Given the description of an element on the screen output the (x, y) to click on. 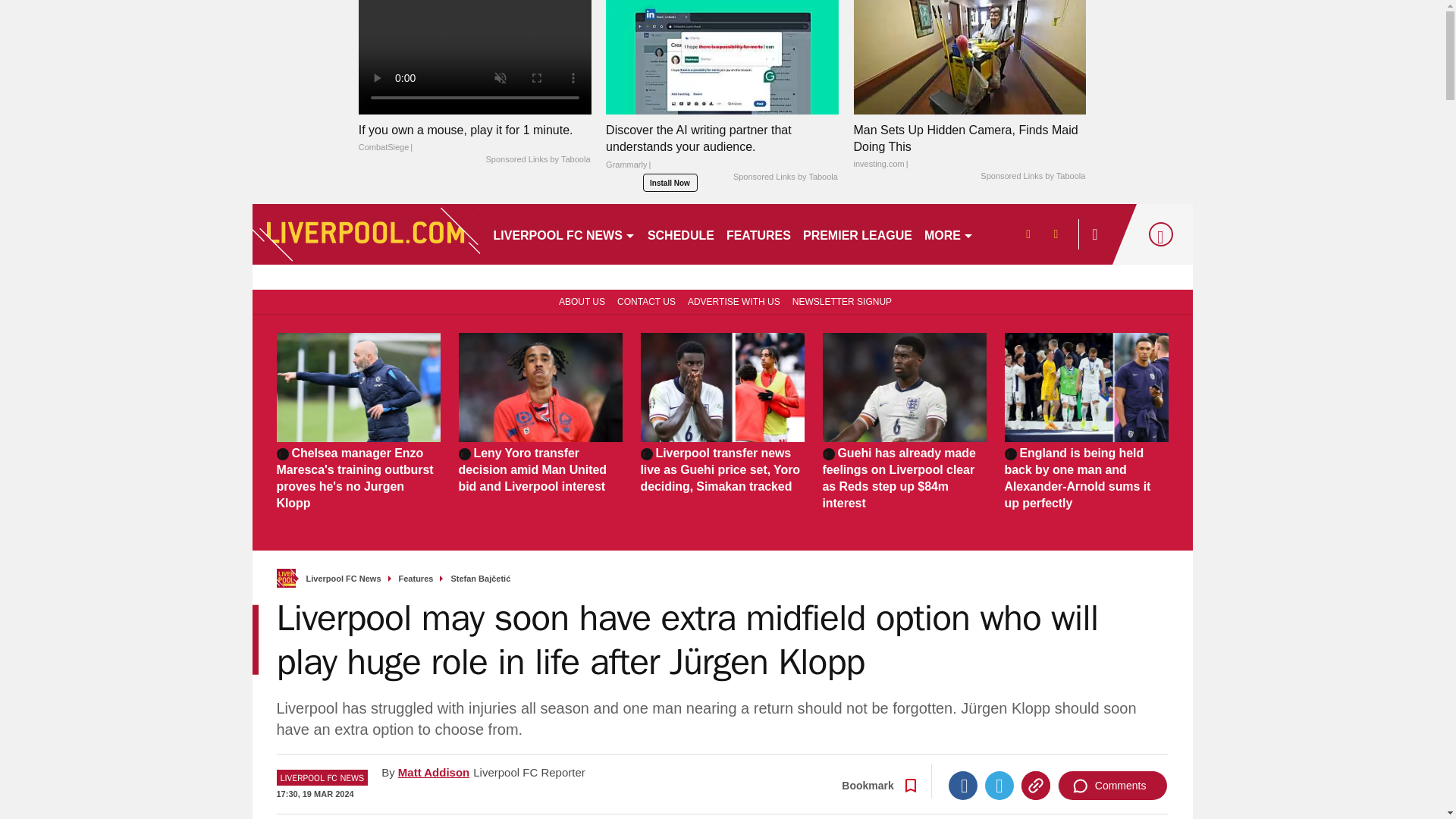
If you own a mouse, play it for 1 minute. (474, 138)
facebook (1026, 233)
Install Now (670, 182)
Sponsored Links by Taboola (785, 176)
SCHEDULE (681, 233)
CONTACT US (646, 300)
Man Sets Up Hidden Camera, Finds Maid Doing This (969, 146)
Sponsored Links by Taboola (1031, 176)
Sponsored Links by Taboola (536, 159)
Comments (1112, 785)
LIVERPOOL FC NEWS (563, 233)
MORE (948, 233)
FEATURES (758, 233)
